Given the description of an element on the screen output the (x, y) to click on. 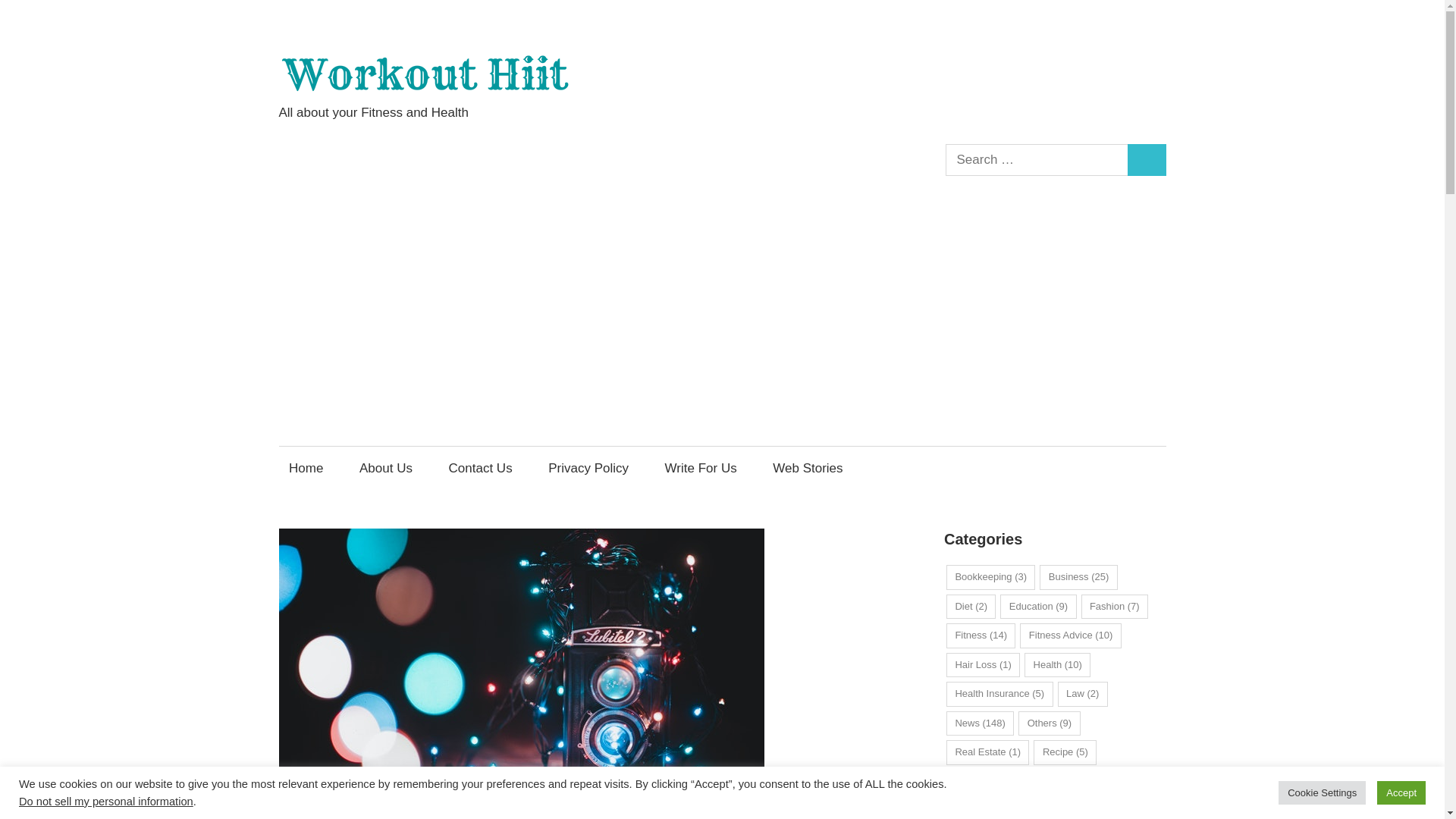
About Us (385, 467)
Search (1146, 160)
Web Stories (807, 467)
Home (306, 467)
Write For Us (699, 467)
Privacy Policy (588, 467)
Search for: (1036, 160)
Contact Us (480, 467)
